Given the description of an element on the screen output the (x, y) to click on. 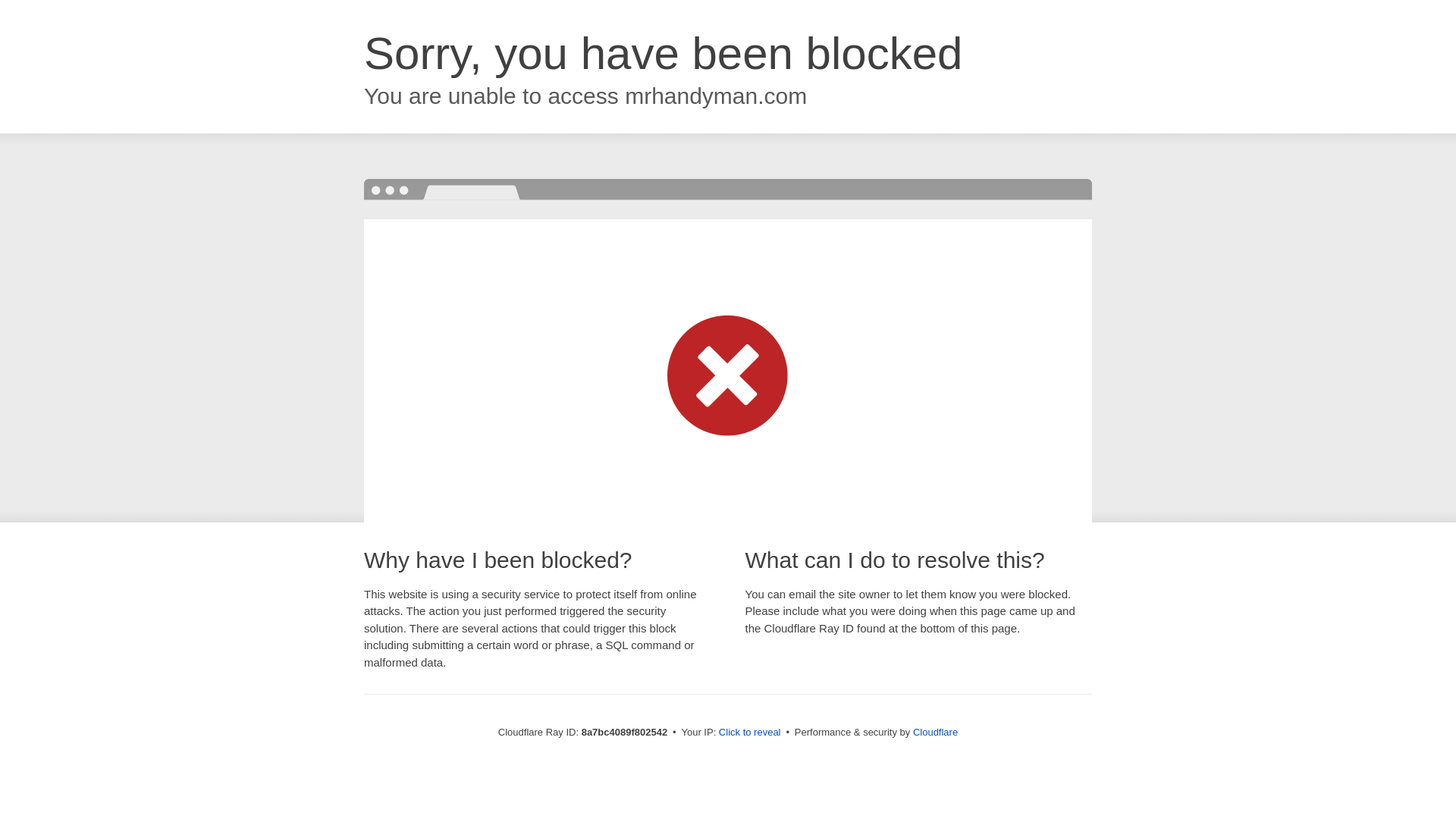
Cloudflare (935, 731)
Click to reveal (749, 732)
